Given the description of an element on the screen output the (x, y) to click on. 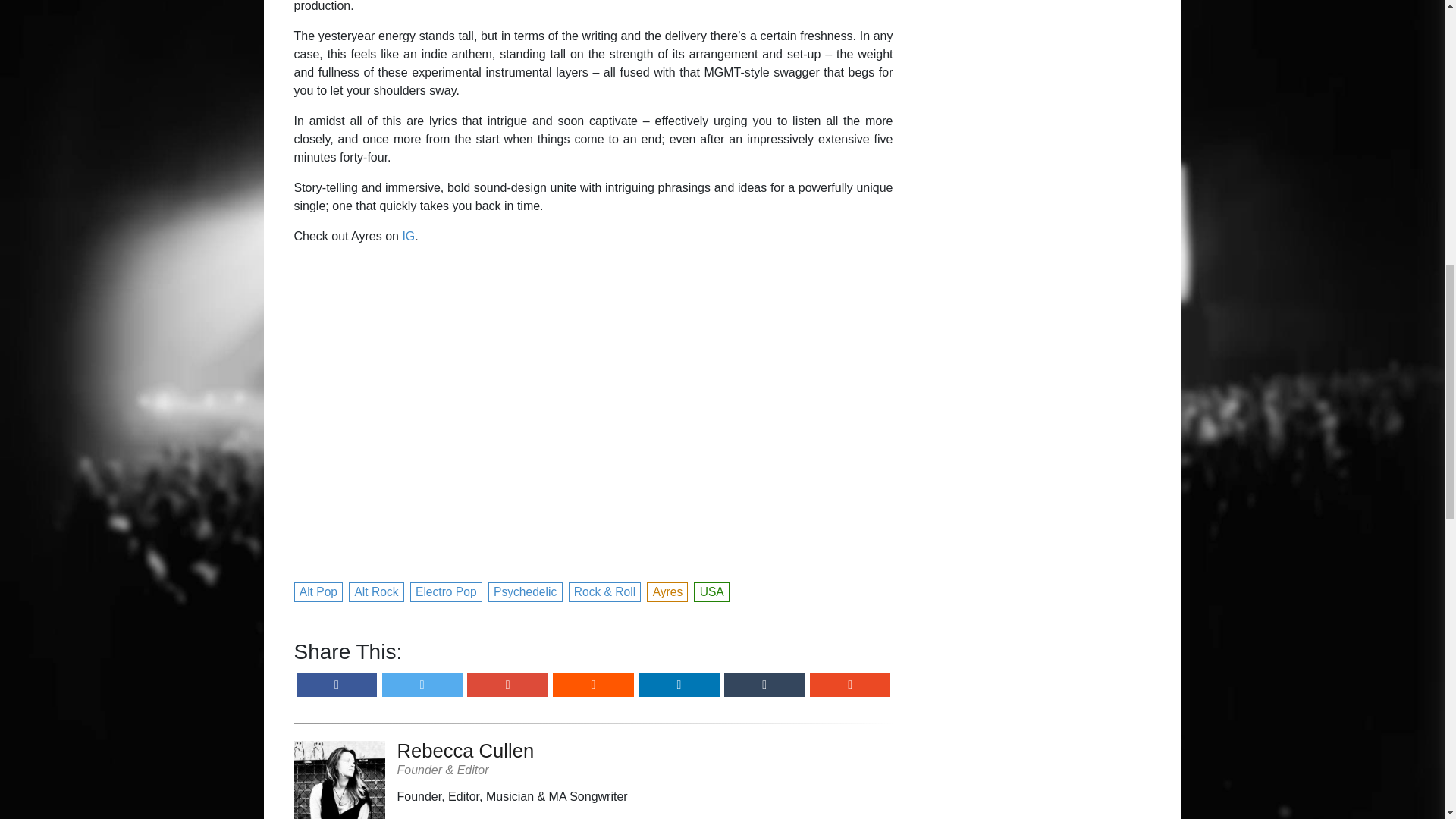
Rebecca Cullen (512, 750)
Psychedelic (525, 589)
Alt Pop (318, 589)
Ayres (667, 589)
Alt Rock (376, 589)
USA (712, 589)
IG (407, 236)
Electro Pop (446, 589)
